Given the description of an element on the screen output the (x, y) to click on. 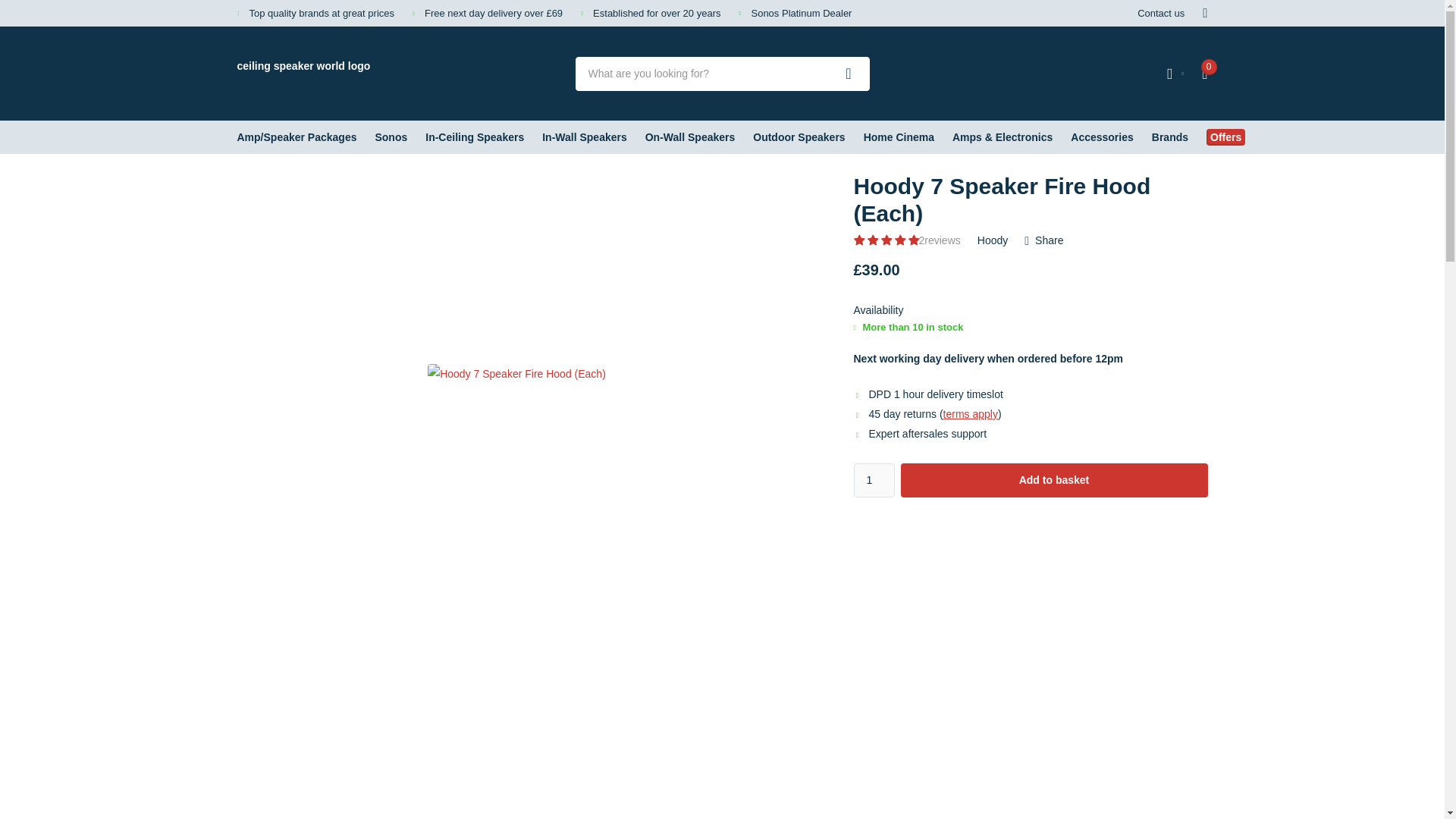
Refund Policy (970, 413)
Sonos (390, 136)
Contact us (1161, 13)
Customer reviews powered by Trustpilot (1097, 73)
Zoeken (848, 73)
1 (874, 480)
